Given the description of an element on the screen output the (x, y) to click on. 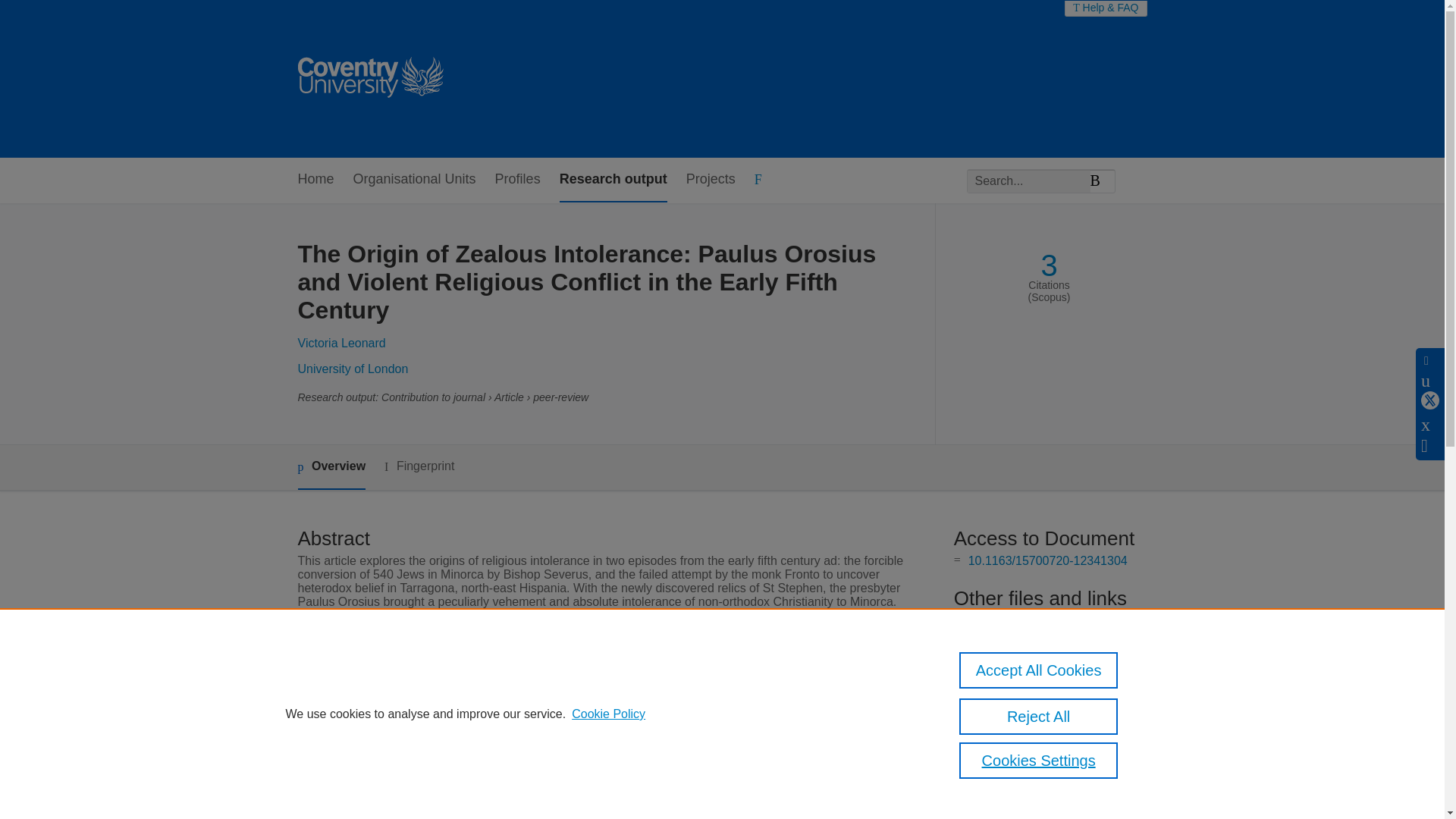
Overview (331, 467)
Coventry University Home (369, 78)
Projects (710, 180)
Victoria Leonard (341, 342)
University of London (352, 368)
Fingerprint (419, 466)
Vigiliae Christianae (562, 747)
Organisational Units (414, 180)
Research output (612, 180)
